Given the description of an element on the screen output the (x, y) to click on. 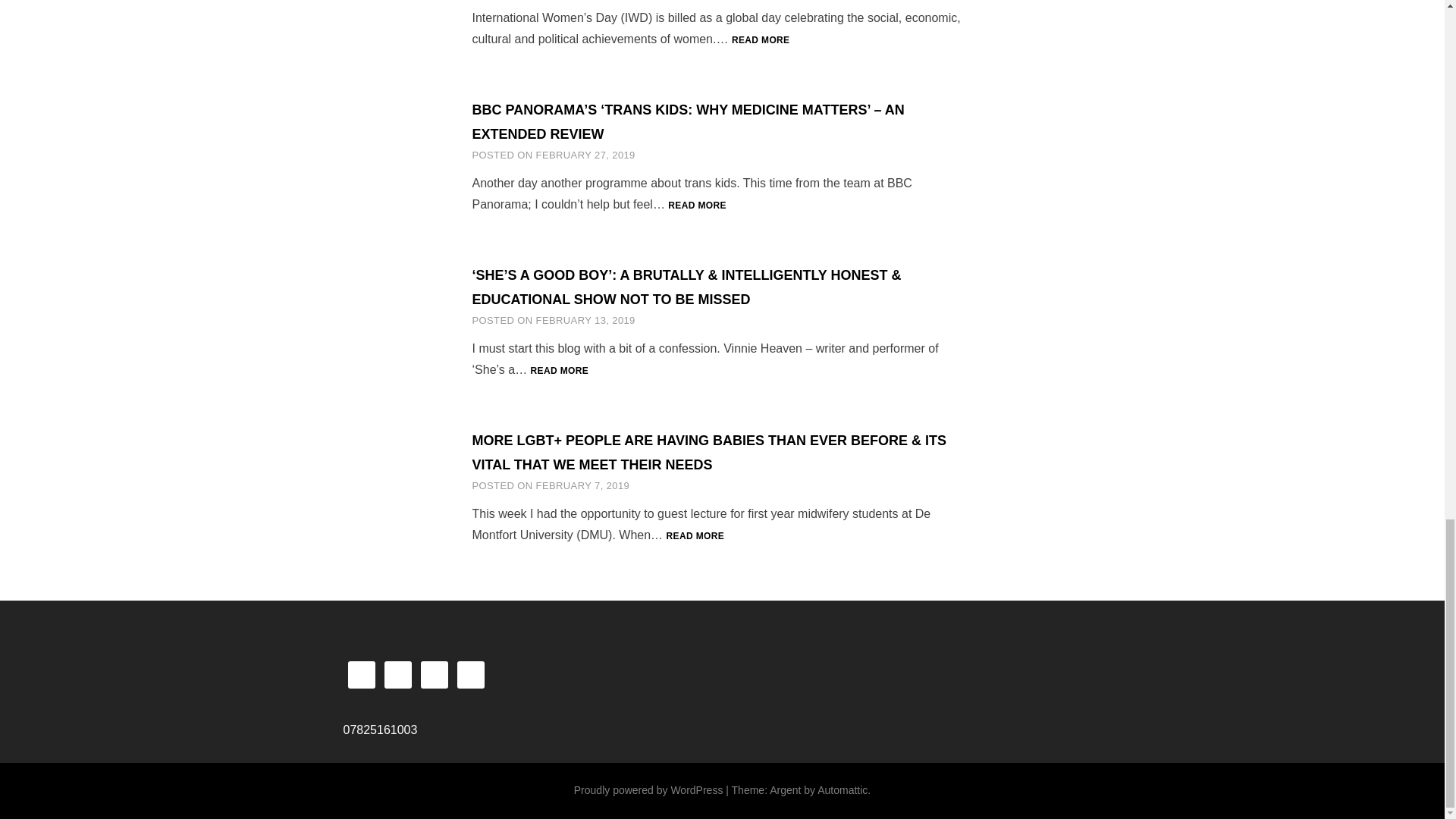
FEBRUARY 27, 2019 (584, 154)
